Given the description of an element on the screen output the (x, y) to click on. 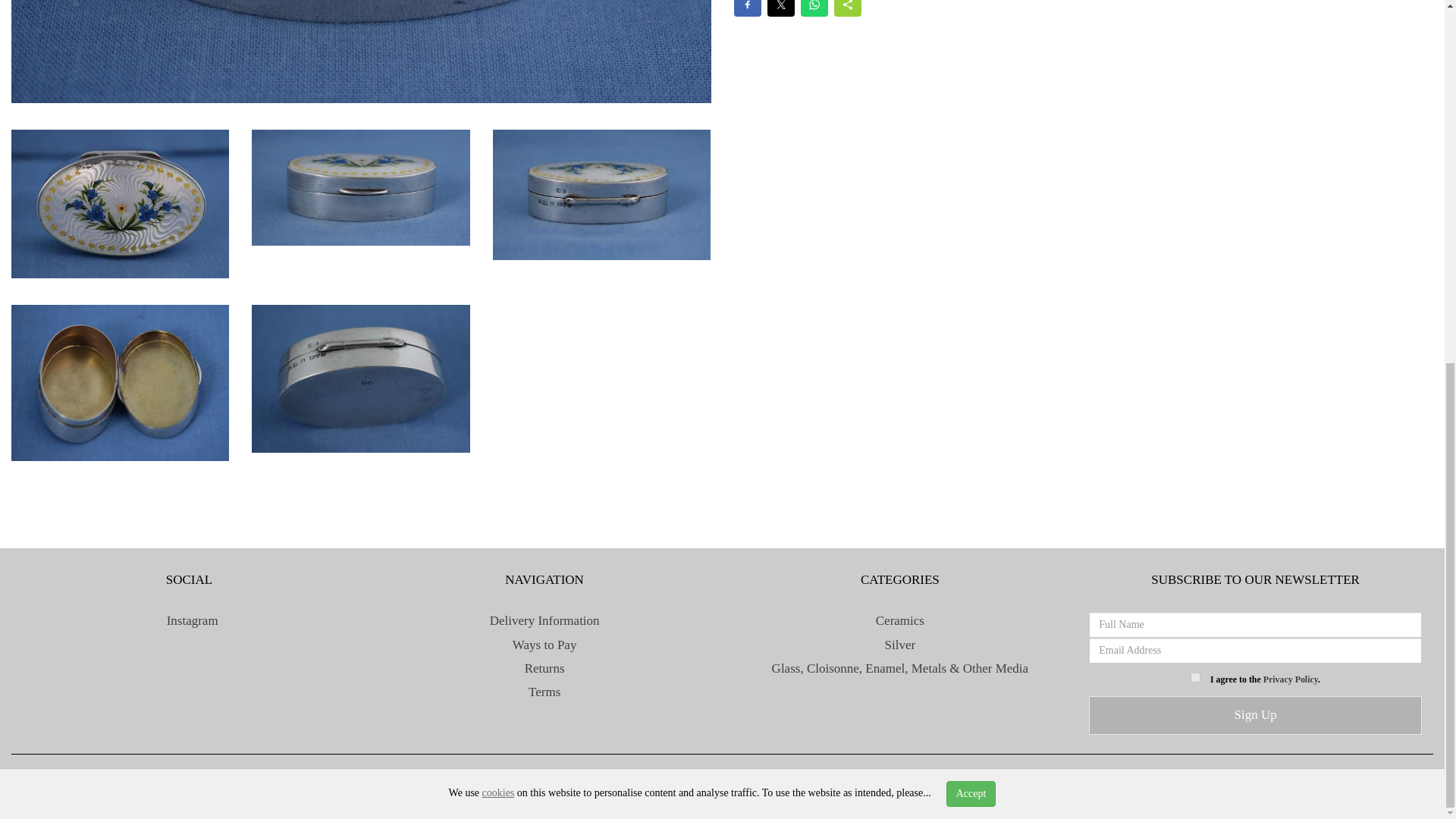
  Instagram (188, 620)
ph9 web design (286, 781)
Terms (745, 781)
Antiques website design (162, 781)
Terms (544, 691)
Ways to Pay (544, 644)
Privacy Policy (1290, 679)
Privacy (702, 781)
on (1195, 677)
Ceramics (900, 620)
Returns (544, 667)
Sign Up (1255, 714)
Silver (900, 644)
Antiques (357, 781)
Delivery Information (544, 620)
